Given the description of an element on the screen output the (x, y) to click on. 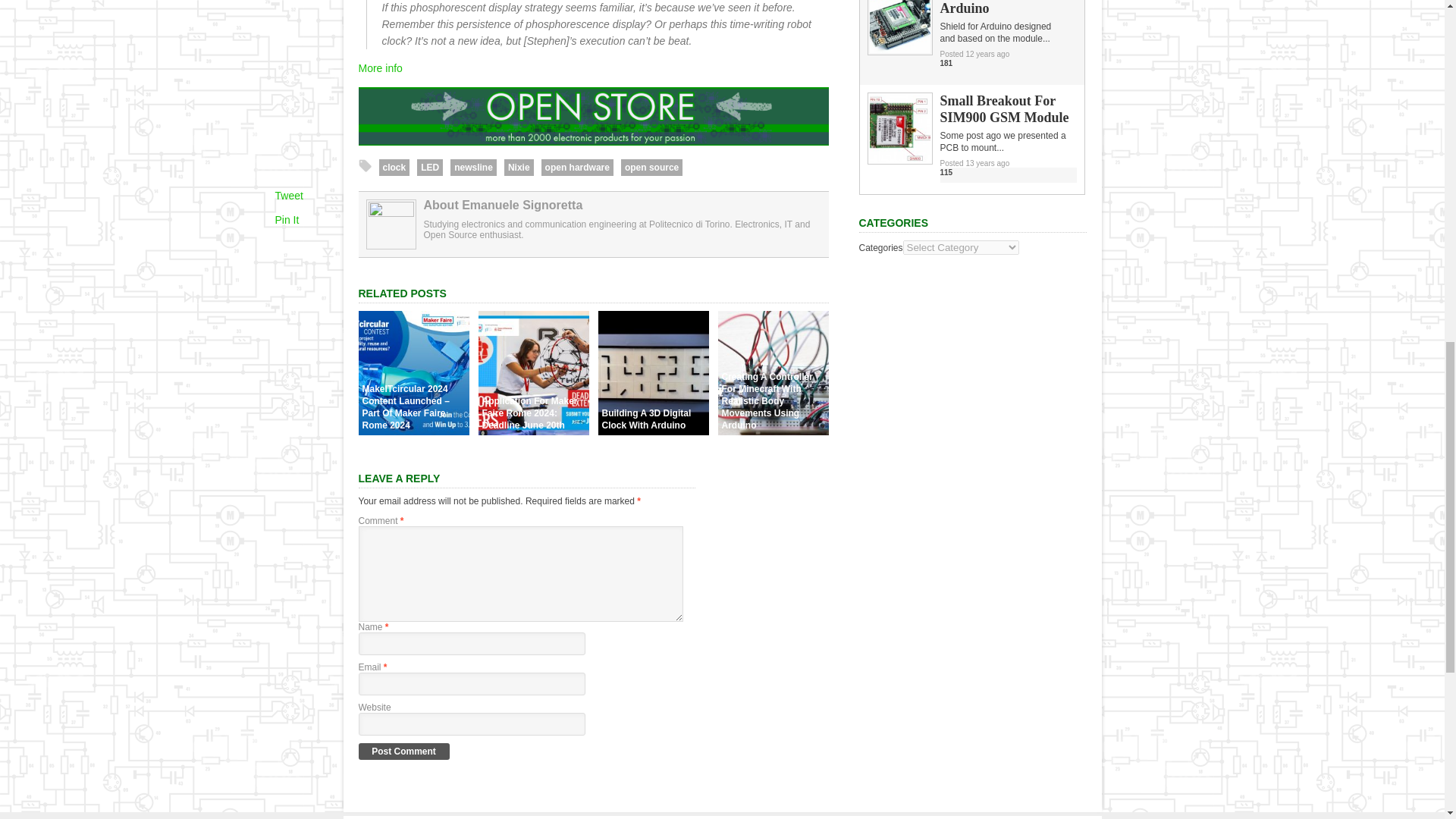
Building a 3D Digital Clock with Arduino (651, 431)
Small Breakout for SIM900 GSM Module (899, 158)
More info (379, 68)
Post Comment (403, 751)
Application For Maker Faire Rome 2024: Deadline June 20th (532, 431)
GSM GPS shield for Arduino (899, 50)
